Given the description of an element on the screen output the (x, y) to click on. 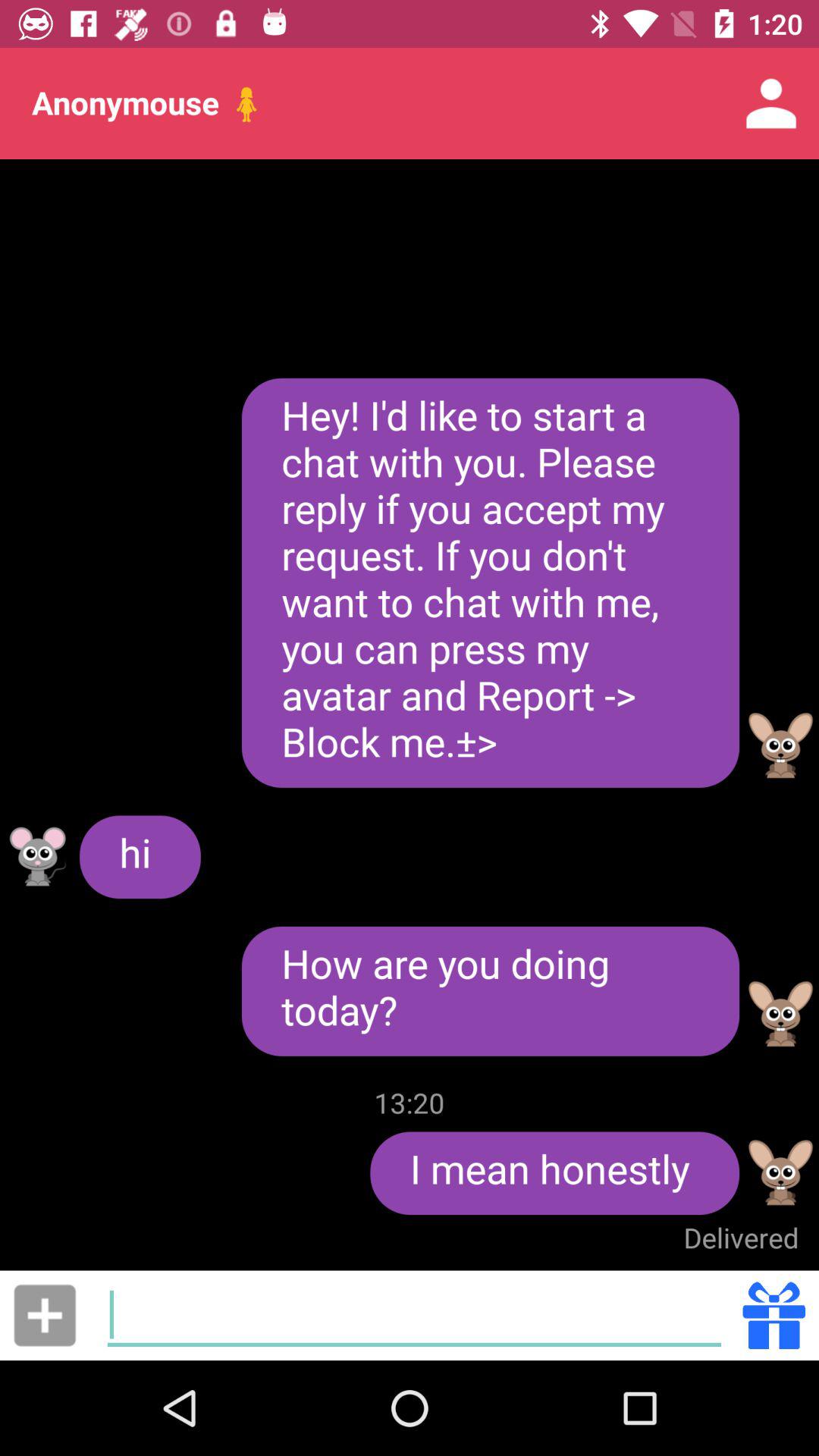
open the item below how are you icon (409, 1102)
